Given the description of an element on the screen output the (x, y) to click on. 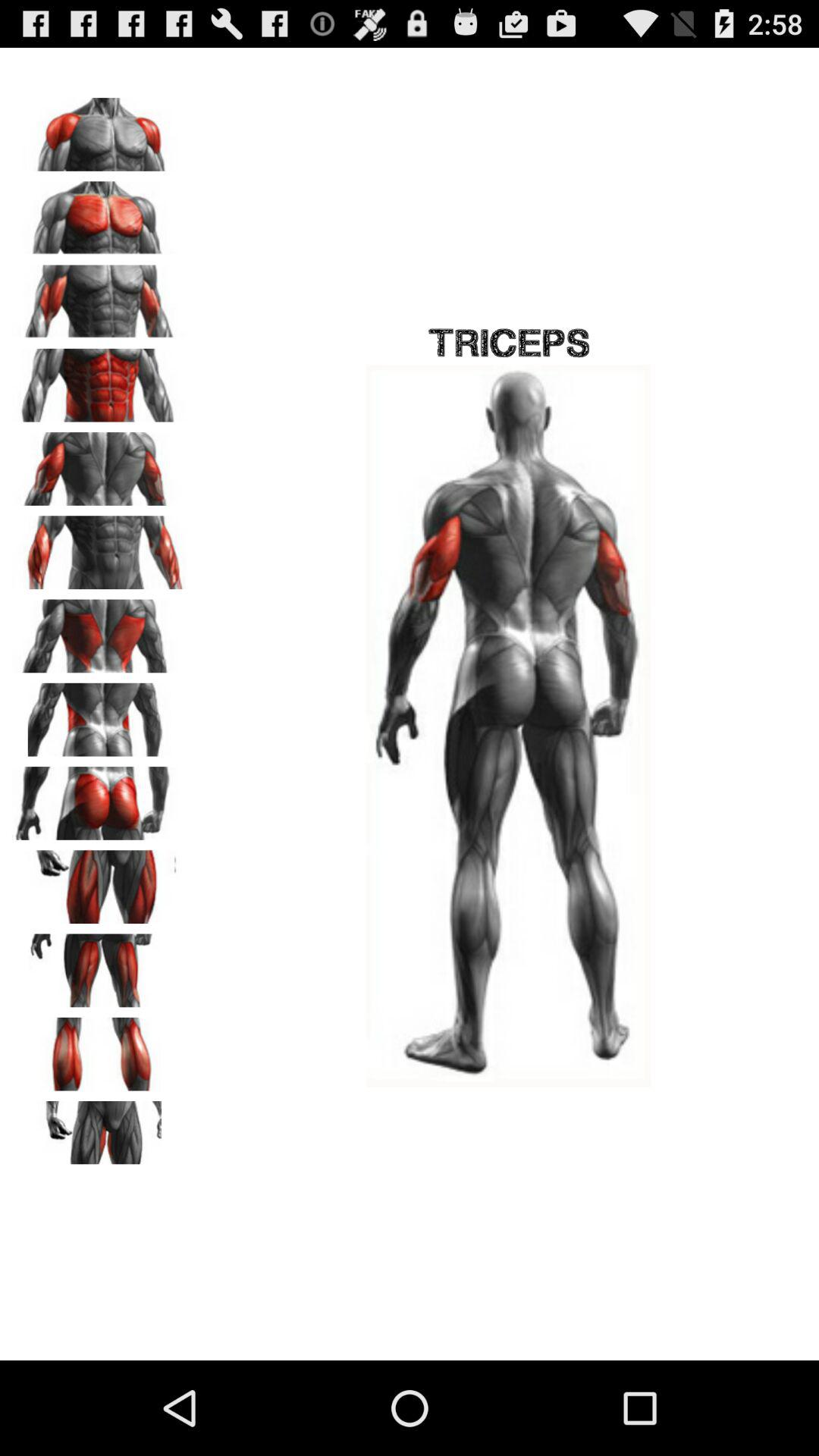
thigh muscle select (99, 881)
